Given the description of an element on the screen output the (x, y) to click on. 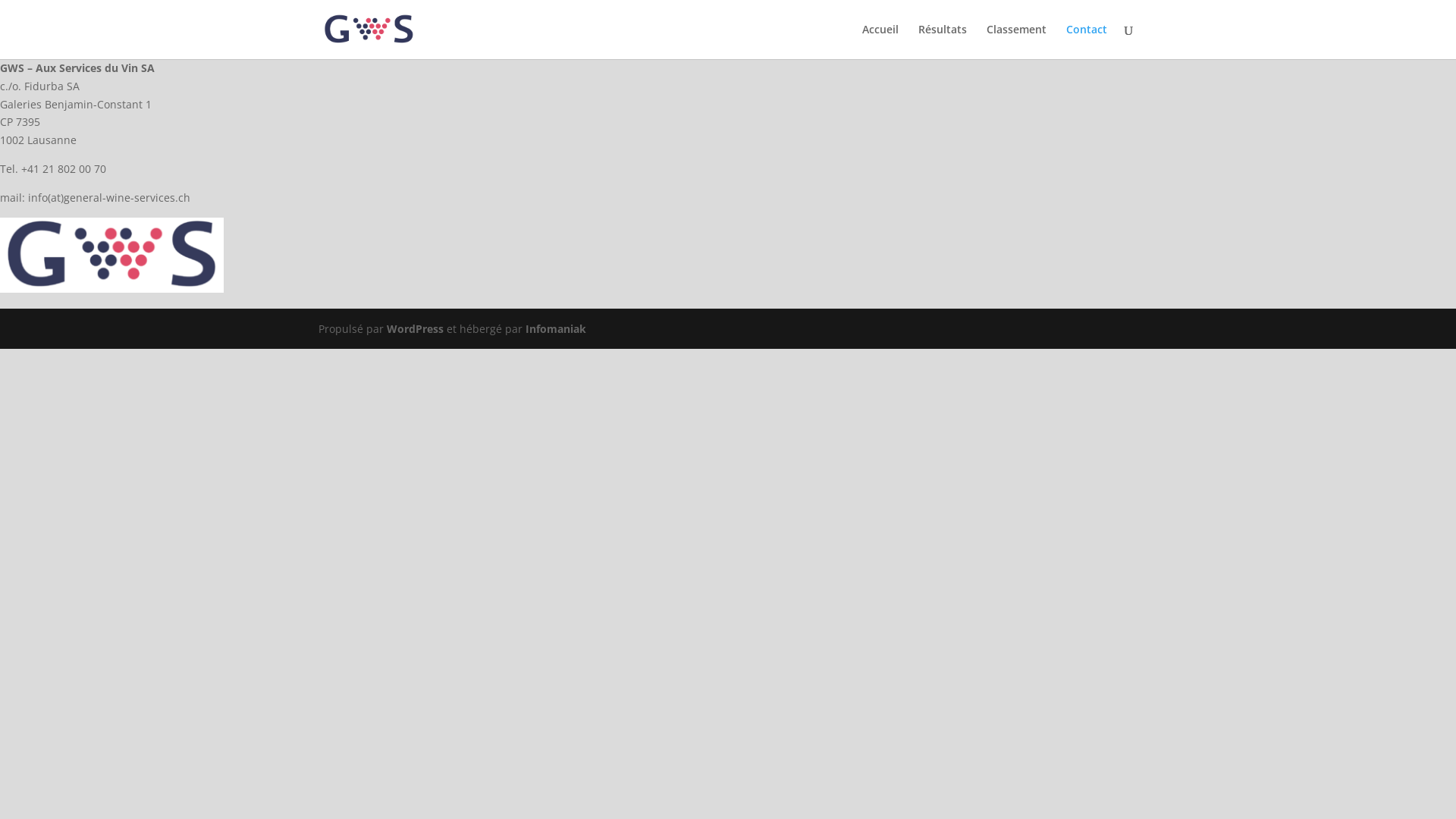
Infomaniak Element type: text (555, 328)
WordPress Element type: text (414, 328)
Classement Element type: text (1016, 41)
Accueil Element type: text (880, 41)
Contact Element type: text (1086, 41)
